Given the description of an element on the screen output the (x, y) to click on. 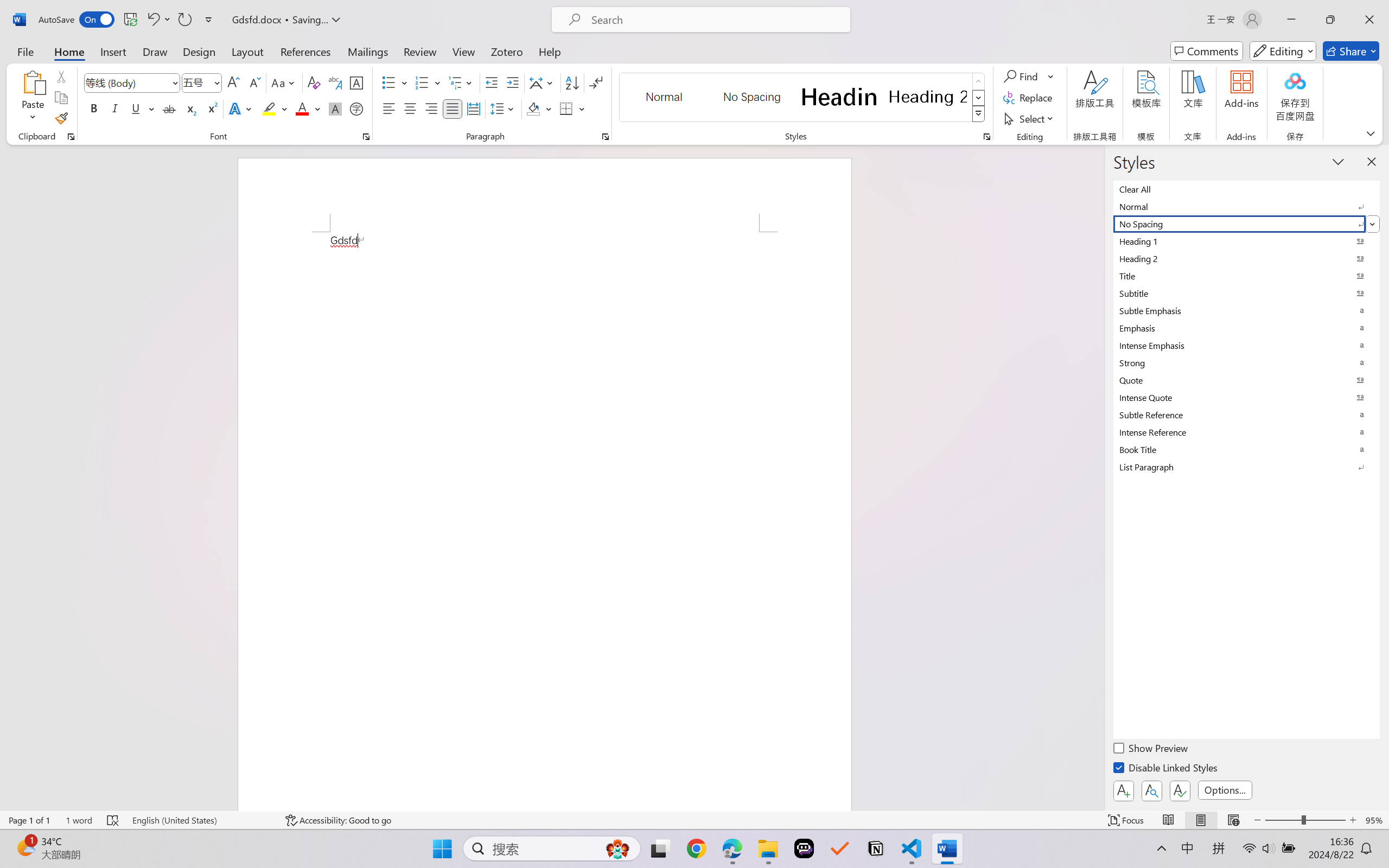
Heading 2 (927, 96)
Font... (365, 136)
Zoom 95% (1374, 819)
Undo Style (158, 19)
Justify (452, 108)
Character Border (356, 82)
Styles (978, 113)
